Given the description of an element on the screen output the (x, y) to click on. 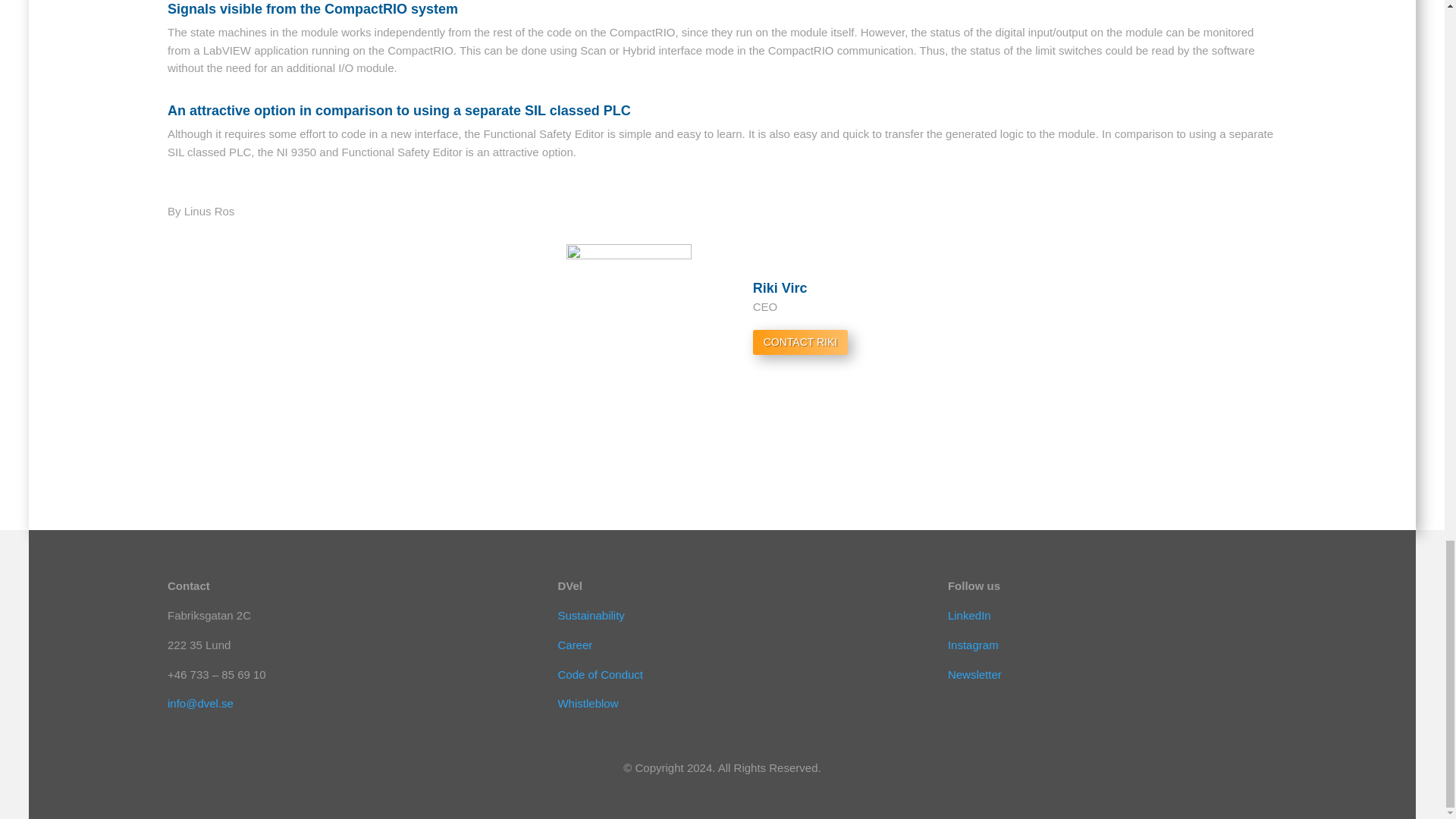
LinkedIn (969, 615)
Sustainability (590, 615)
Newsletter (974, 674)
Instagram (972, 644)
Code of Conduct (600, 674)
Career (574, 644)
CONTACT RIKI (800, 342)
Riki (628, 327)
Whistleblow (587, 703)
